Given the description of an element on the screen output the (x, y) to click on. 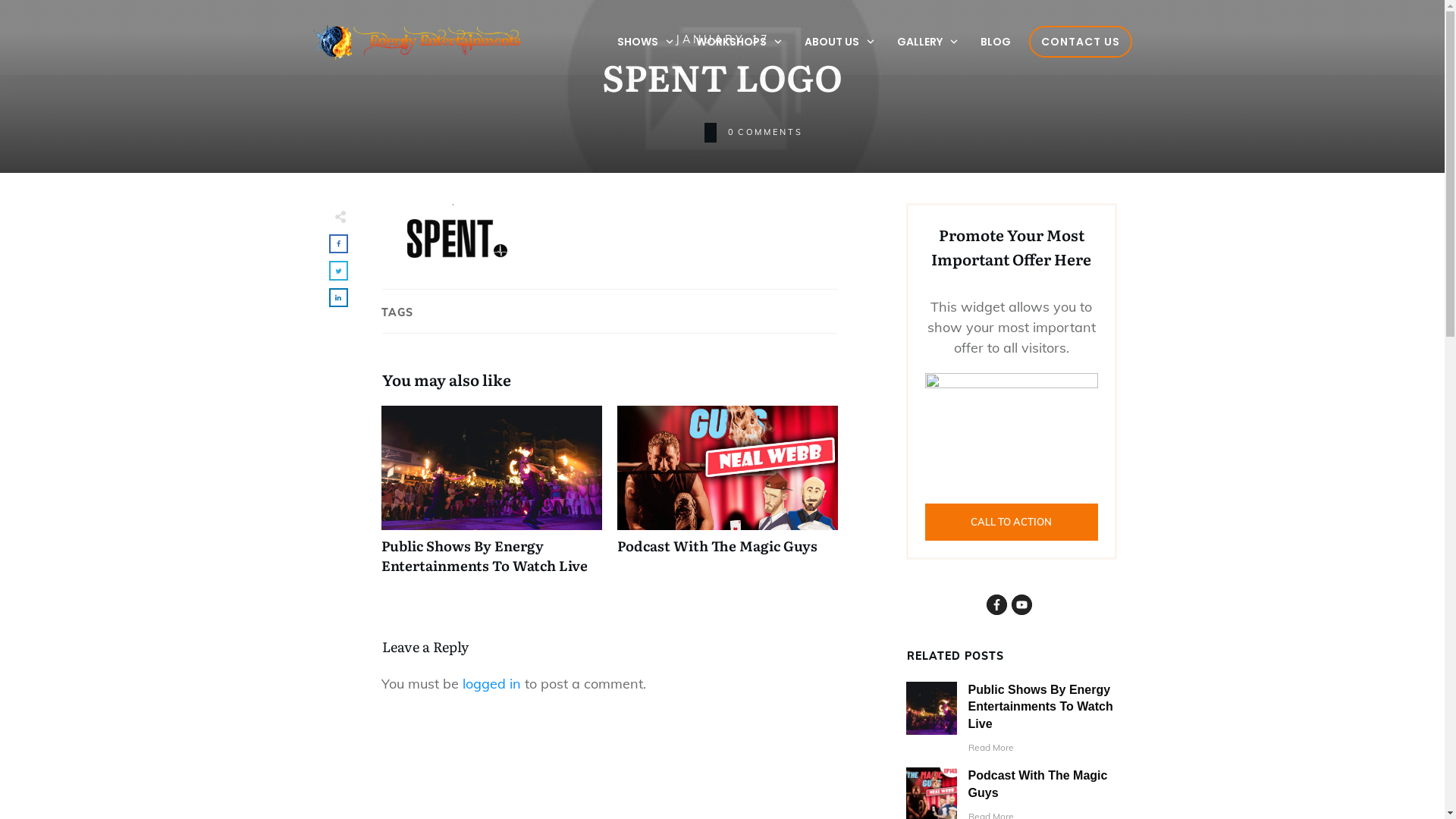
GALLERY Element type: text (927, 41)
logged in Element type: text (491, 683)
Podcast With The Magic Guys Element type: text (1037, 783)
Podcast With The Magic Guys Element type: text (727, 497)
BLOG Element type: text (994, 41)
Podcast With The Magic Guys Element type: text (717, 545)
CONTACT US Element type: text (1079, 41)
Public Shows By Energy Entertainments To Watch Live Element type: text (490, 497)
CALL TO ACTION Element type: text (1011, 522)
SHOWS Element type: text (645, 41)
ABOUT US Element type: text (839, 41)
Public Shows By Energy Entertainments To Watch Live Element type: text (1040, 706)
Public Shows By Energy Entertainments To Watch Live Element type: text (483, 554)
Read More Element type: text (990, 747)
shapeshift_sidebar_img_001 Element type: hover (1011, 430)
WORKSHOPS Element type: text (739, 41)
